Given the description of an element on the screen output the (x, y) to click on. 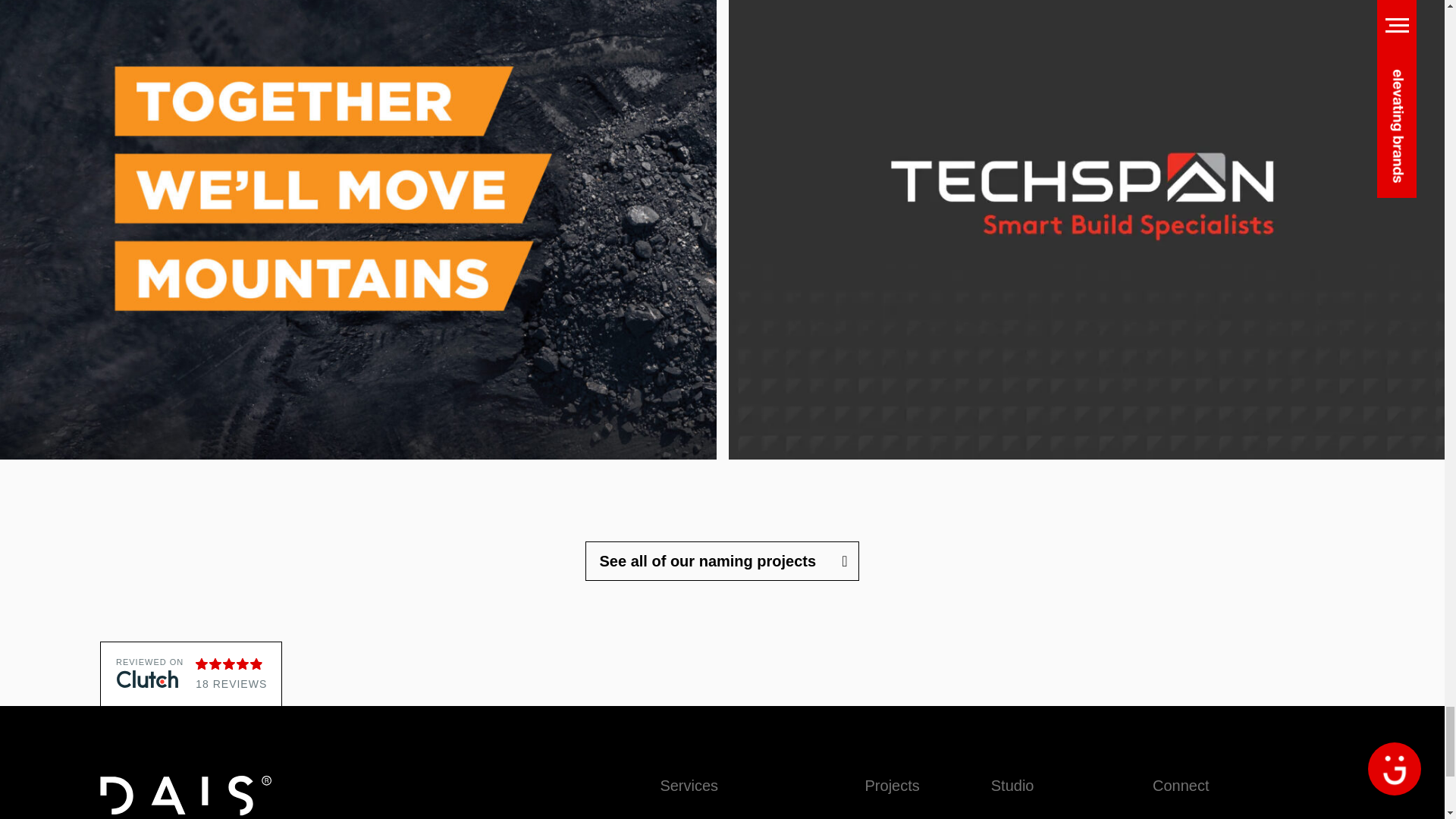
Studio (1036, 785)
Projects (892, 785)
See all of our naming projects (722, 560)
Connect (1181, 785)
Services (726, 785)
